Given the description of an element on the screen output the (x, y) to click on. 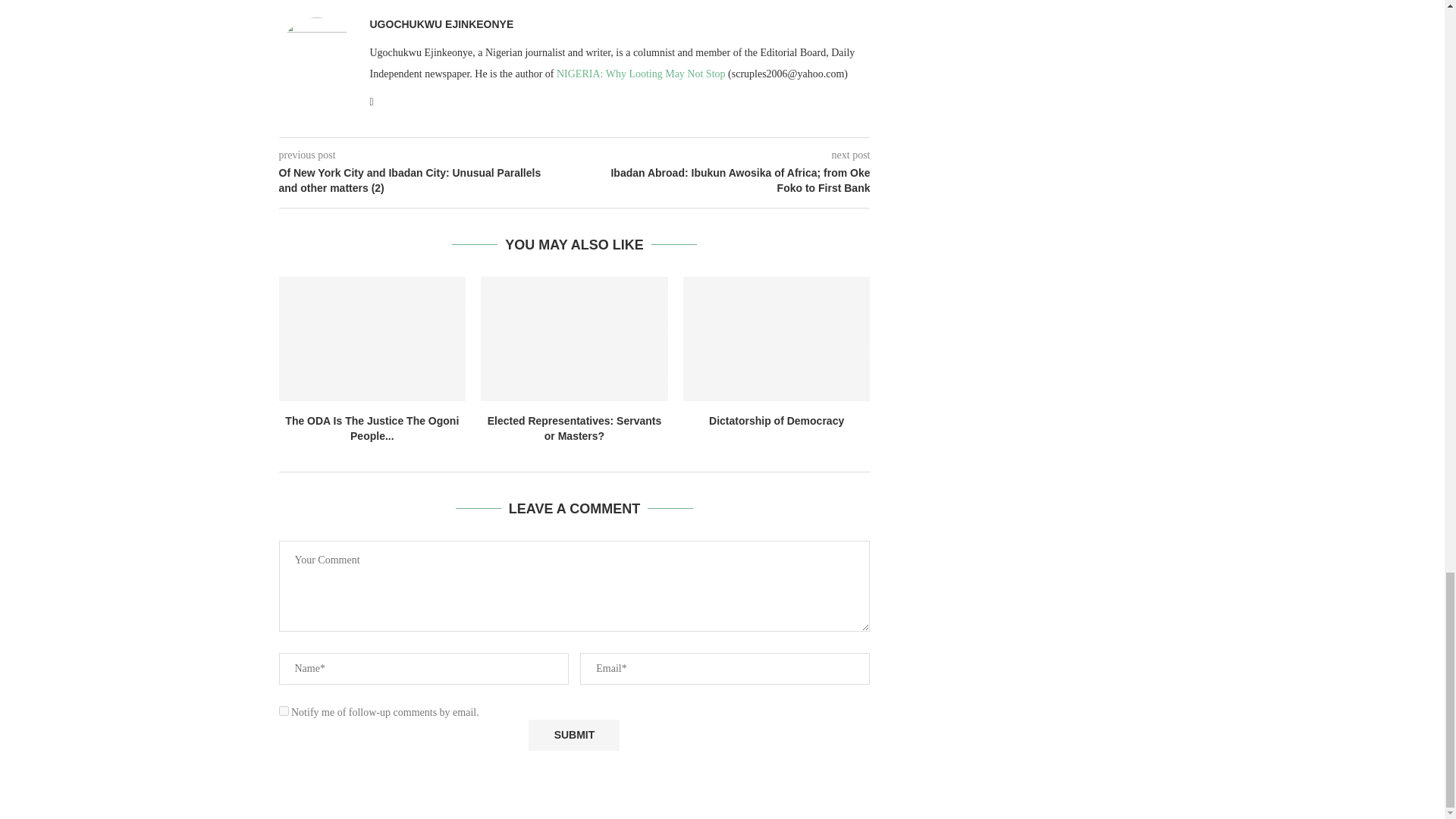
subscribe (283, 710)
The ODA Is The Justice The Ogoni People... (371, 428)
Elected Representatives: Servants or Masters? (574, 428)
The ODA Is The Justice The Ogoni People Seek (372, 338)
Elected Representatives: Servants or Masters? (574, 338)
Dictatorship of Democracy (776, 420)
NIGERIA: Why Looting May Not Stop (640, 73)
Author Ugochukwu Ejinkeonye (441, 24)
Submit (574, 735)
UGOCHUKWU EJINKEONYE (441, 24)
